Given the description of an element on the screen output the (x, y) to click on. 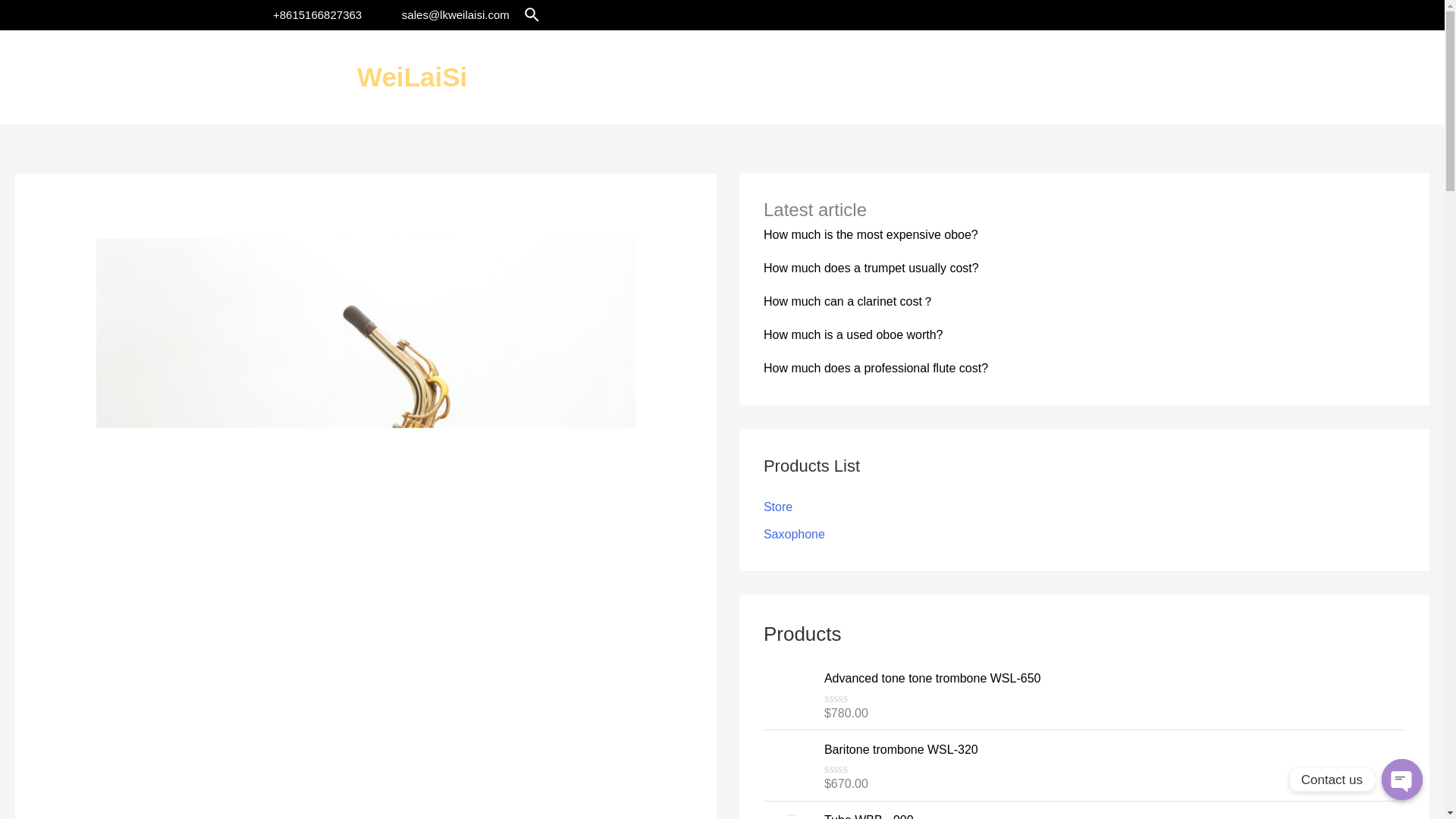
ABOUT (1119, 76)
CONTACT US (1349, 76)
HOME (1024, 76)
How much is the most expensive oboe? (870, 234)
How much is a used oboe worth? (852, 334)
Advanced tone tone trombone WSL-650 (1114, 678)
How much does a trumpet usually cost? (870, 267)
STORE (1225, 76)
How much does a professional flute cost? (875, 367)
Saxophone (793, 533)
Store (777, 506)
WeiLaiSi (411, 76)
